Given the description of an element on the screen output the (x, y) to click on. 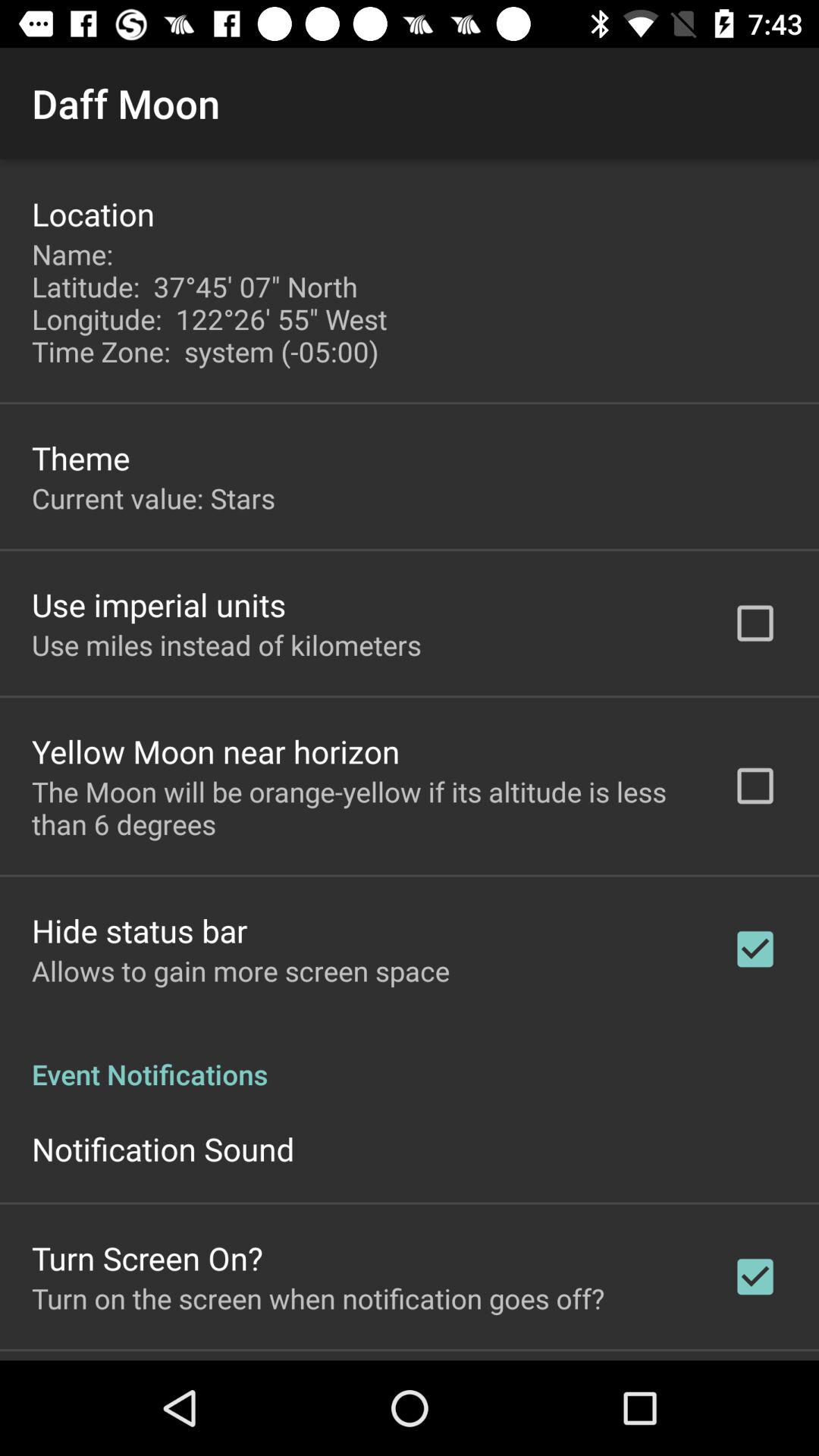
turn on app below the name latitude 37 app (80, 457)
